Given the description of an element on the screen output the (x, y) to click on. 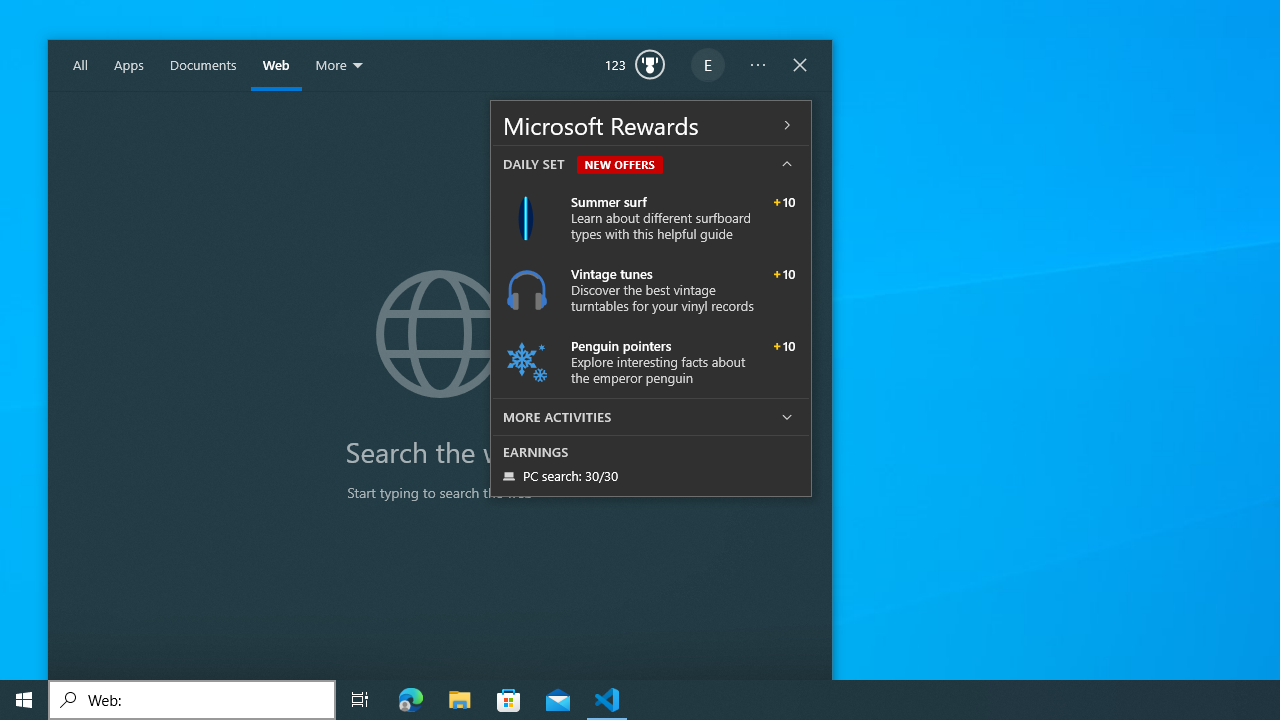
Documents (203, 65)
Close Windows Search (799, 65)
